Given the description of an element on the screen output the (x, y) to click on. 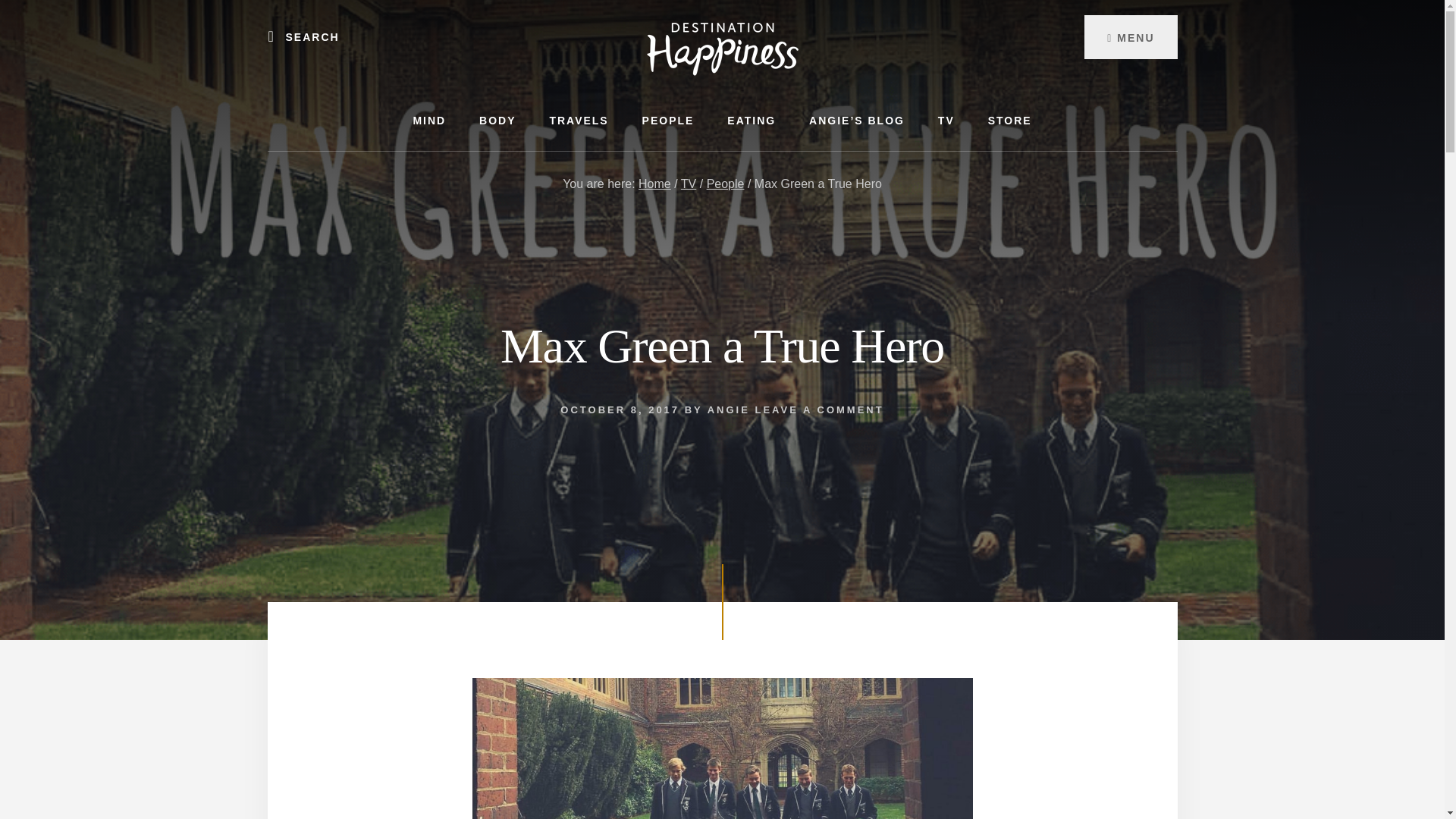
LEAVE A COMMENT (818, 409)
MIND (429, 120)
TV (688, 183)
STORE (1009, 120)
Home (655, 183)
TV (946, 120)
ANGIE (728, 409)
EATING (750, 120)
TRAVELS (578, 120)
People (725, 183)
MENU (1130, 36)
